Given the description of an element on the screen output the (x, y) to click on. 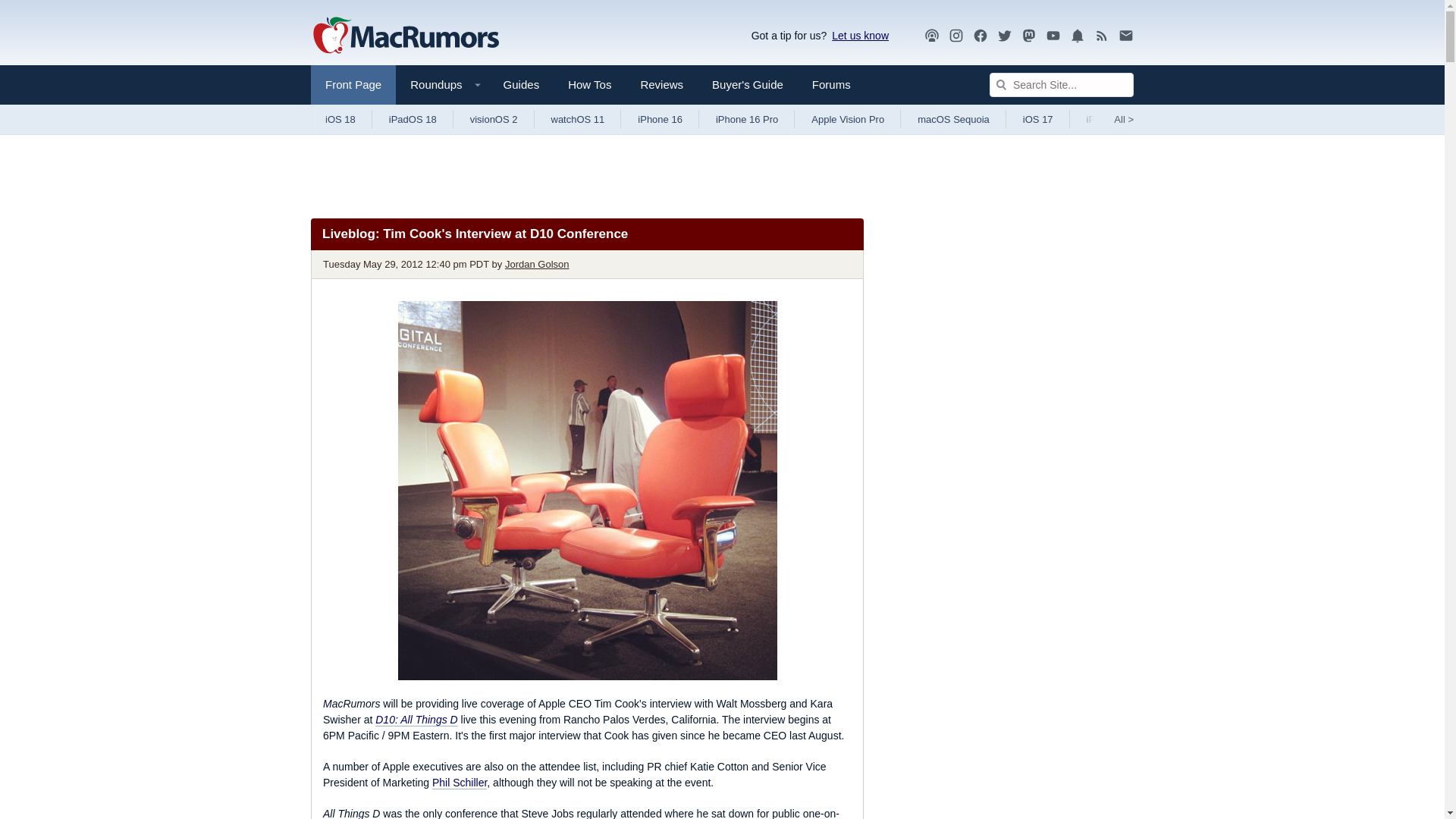
Forums (830, 84)
Podcast (931, 35)
Guides (521, 84)
YouTube (1053, 35)
MacRumors YouTube Channel (1053, 35)
Buyer's Guide (747, 84)
Instagram (956, 35)
Twitter (1004, 35)
RSS (1101, 35)
Podcast (931, 35)
